Given the description of an element on the screen output the (x, y) to click on. 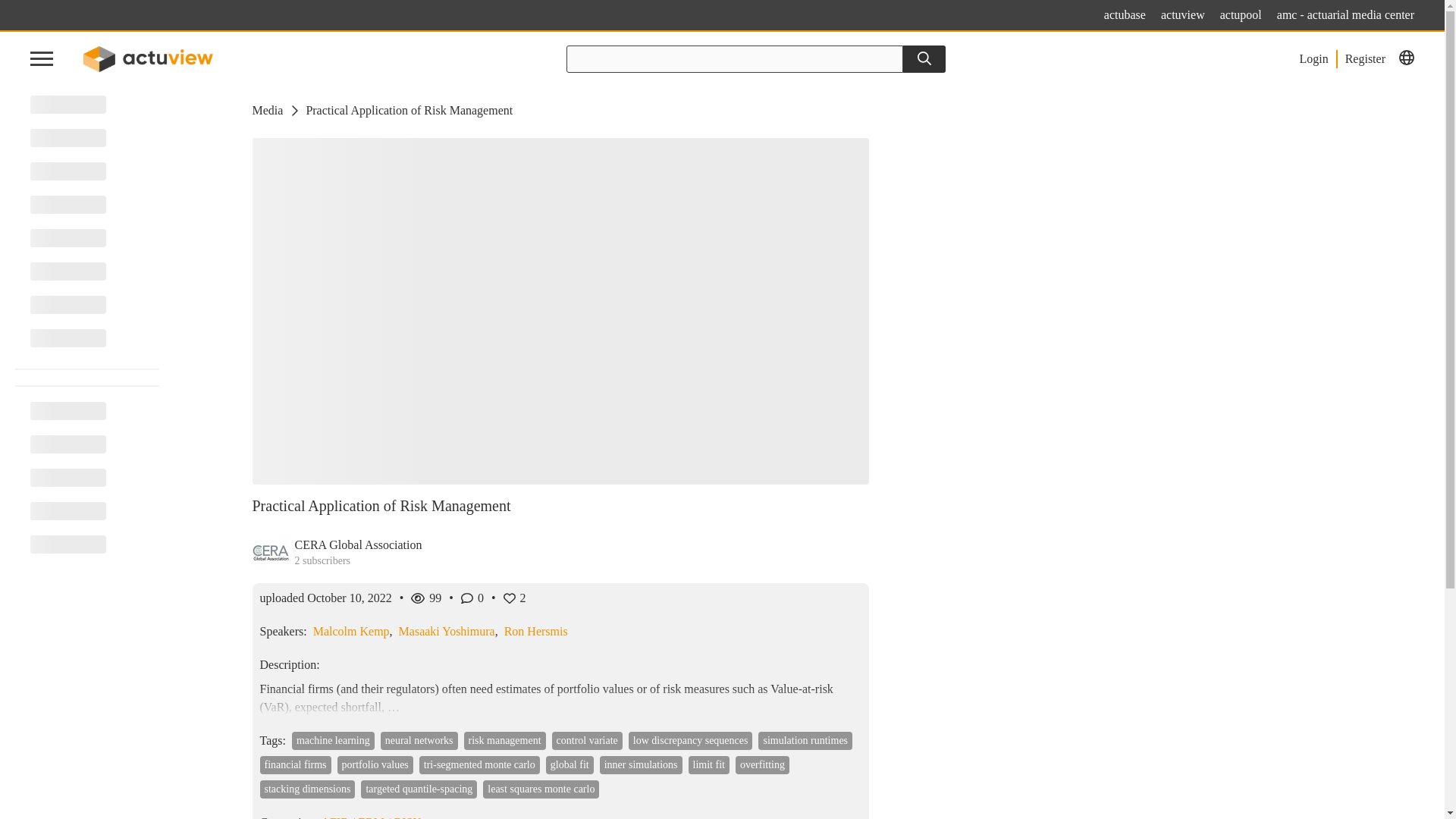
Media (266, 110)
overfitting (762, 764)
tri-segmented monte carlo (479, 764)
CERA Global Association (358, 544)
amc - actuarial media center (1344, 14)
portfolio values (375, 764)
actuview (1182, 14)
simulation runtimes (804, 741)
Masaaki Yoshimura (446, 631)
low discrepancy sequences (690, 741)
